Given the description of an element on the screen output the (x, y) to click on. 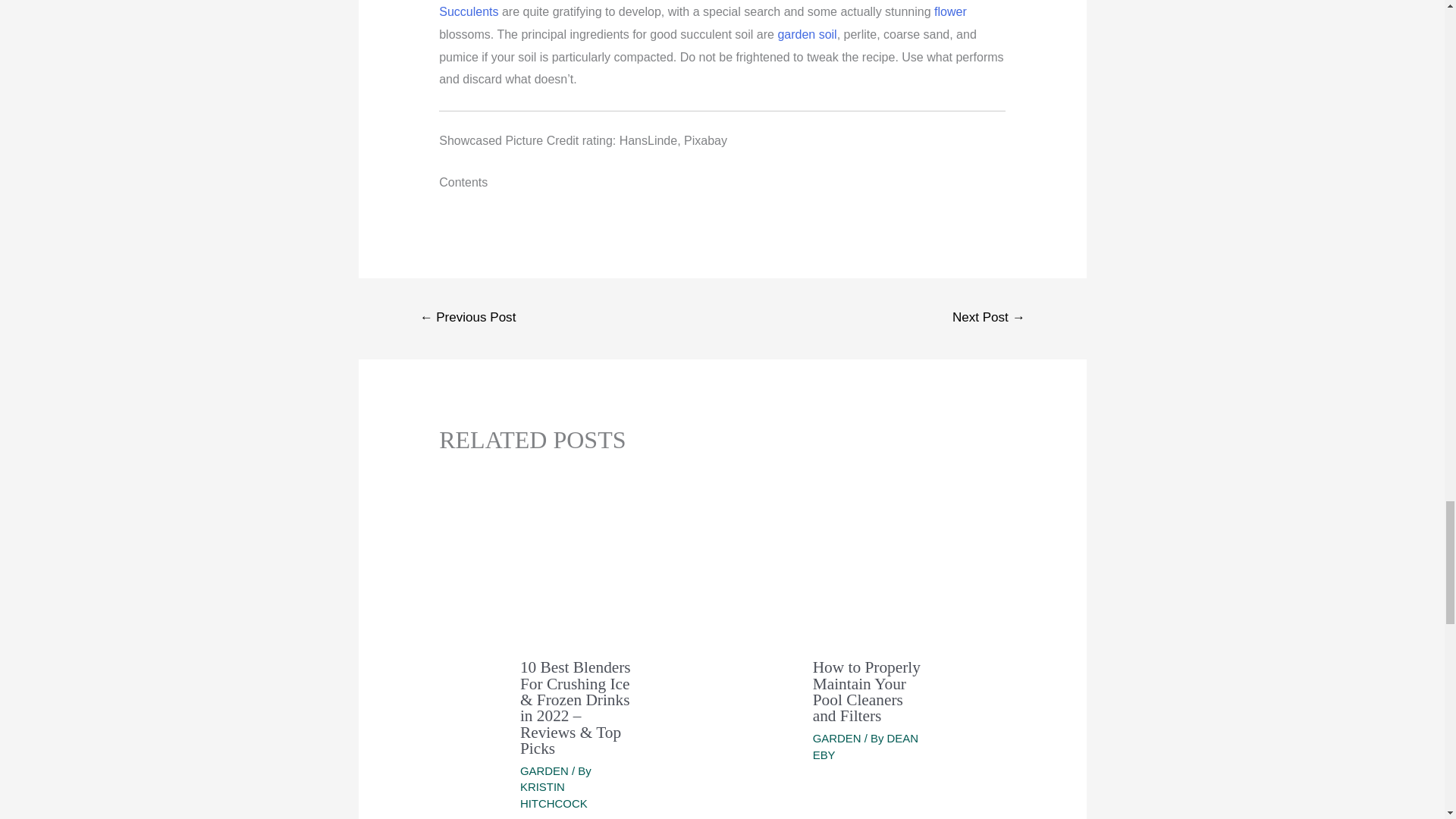
How to Properly Maintain Your Pool Cleaners and Filters (866, 691)
GARDEN (544, 770)
garden soil (806, 33)
Succulents (468, 11)
View all posts by KRISTIN HITCHCOCK (553, 794)
GARDEN (836, 738)
KRISTIN HITCHCOCK (553, 794)
flower (950, 11)
DEAN EBY (865, 746)
View all posts by DEAN EBY (865, 746)
